Given the description of an element on the screen output the (x, y) to click on. 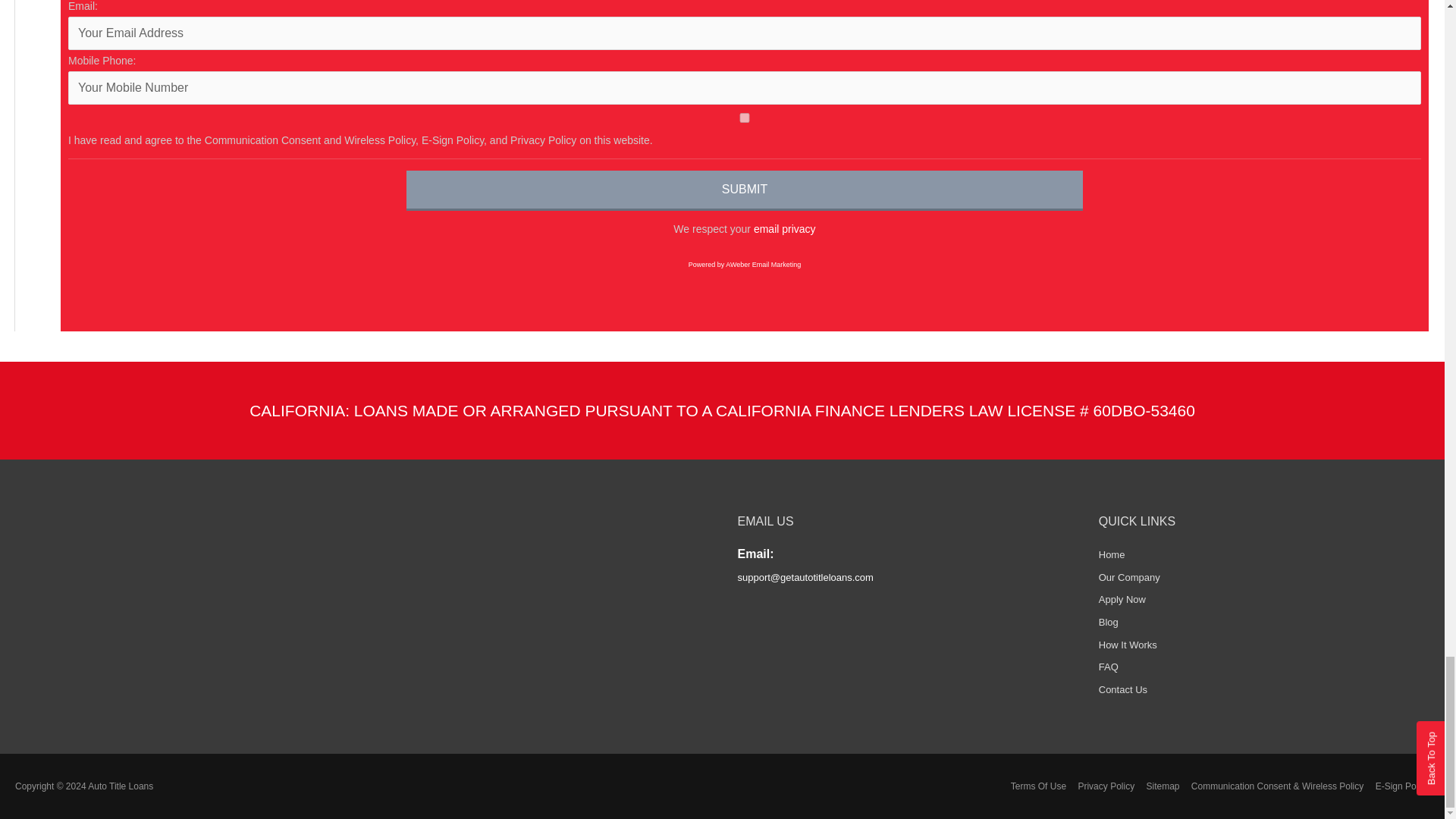
Submit (744, 190)
Your Mobile Number (744, 87)
How It Works (1128, 644)
Terms Of Use (1033, 786)
Privacy Policy (784, 228)
Submit (744, 190)
Home (1112, 554)
Powered by AWeber Email Marketing (745, 264)
Apply Now (1122, 599)
FAQ (1108, 666)
Contact Us (1123, 689)
AWeber Email Marketing (745, 264)
Privacy Policy (1101, 786)
Blog (1108, 622)
